Given the description of an element on the screen output the (x, y) to click on. 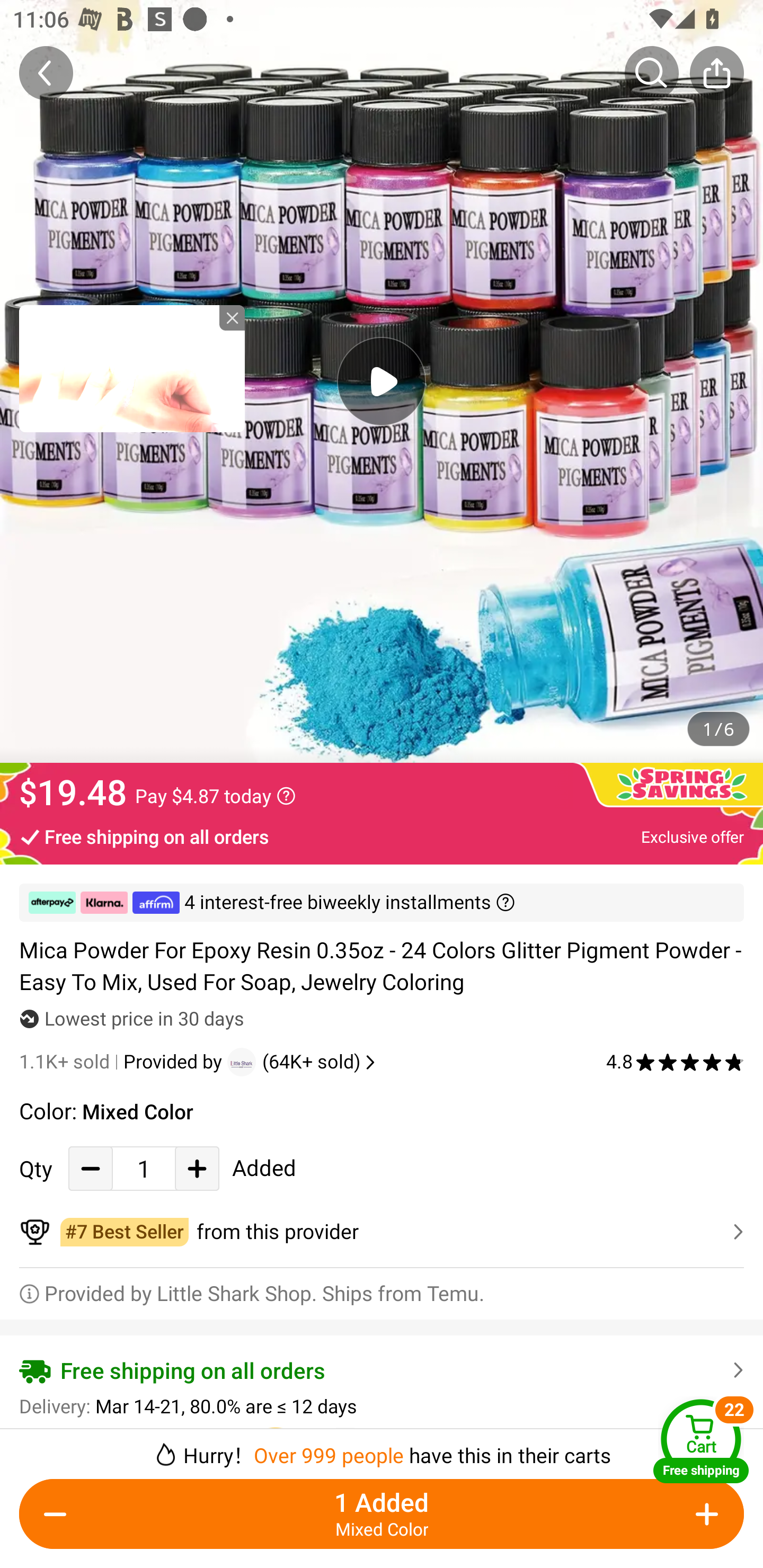
Back (46, 72)
Share (716, 72)
tronplayer_view (131, 368)
Pay $4.87 today   (215, 795)
Free shipping on all orders Exclusive offer (381, 836)
￼ ￼ ￼ 4 interest-free biweekly installments ￼ (381, 902)
4.8 (674, 1061)
Decrease Quantity Button (90, 1168)
1 (143, 1168)
Add Quantity button (196, 1168)
￼￼from this provider (381, 1231)
Cart Free shipping Cart (701, 1440)
￼￼Hurry！Over 999 people have this in their carts (381, 1448)
Decrease Quantity Button (59, 1513)
Add Quantity button (703, 1513)
